Given the description of an element on the screen output the (x, y) to click on. 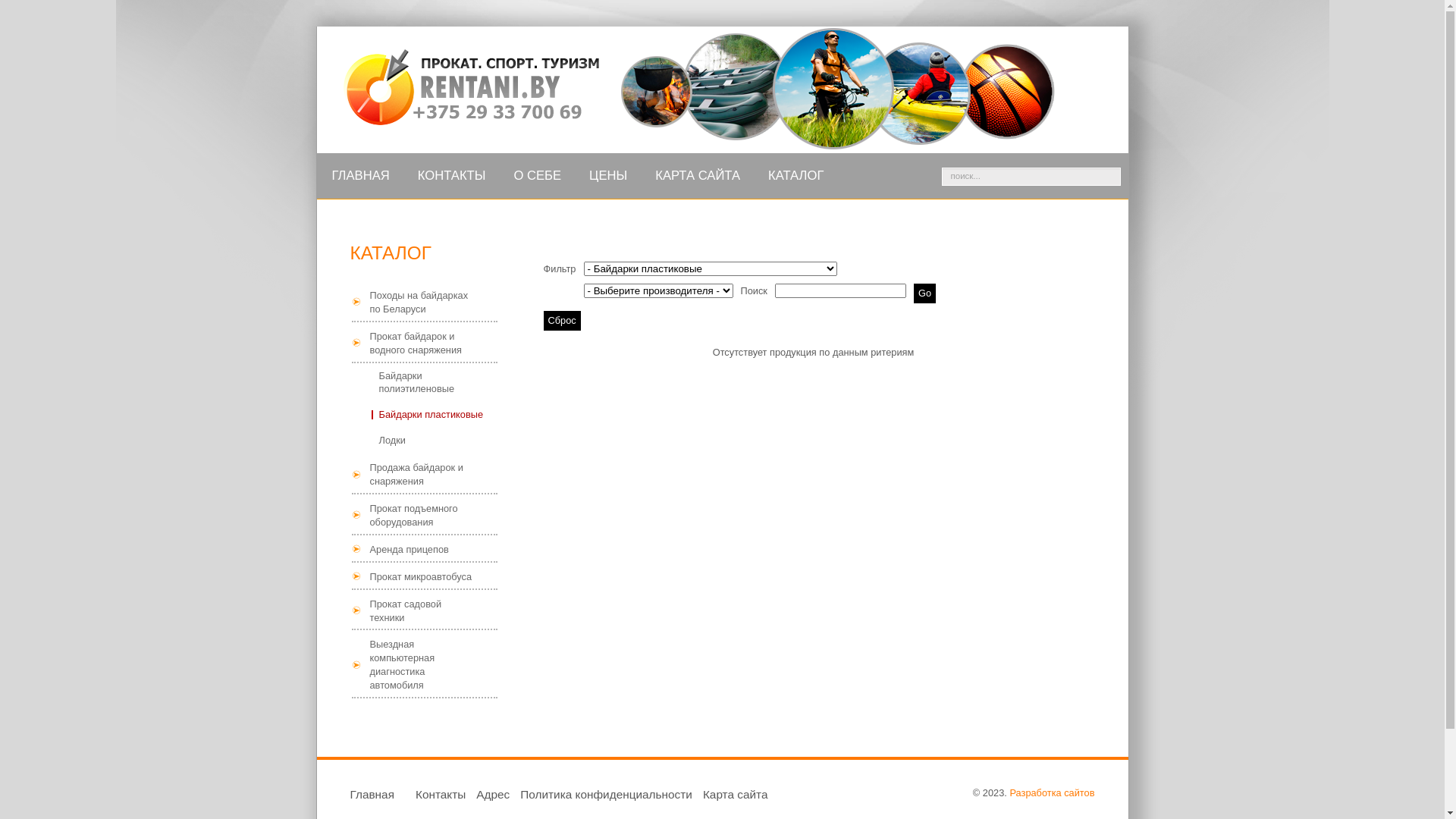
Go Element type: text (924, 293)
